Given the description of an element on the screen output the (x, y) to click on. 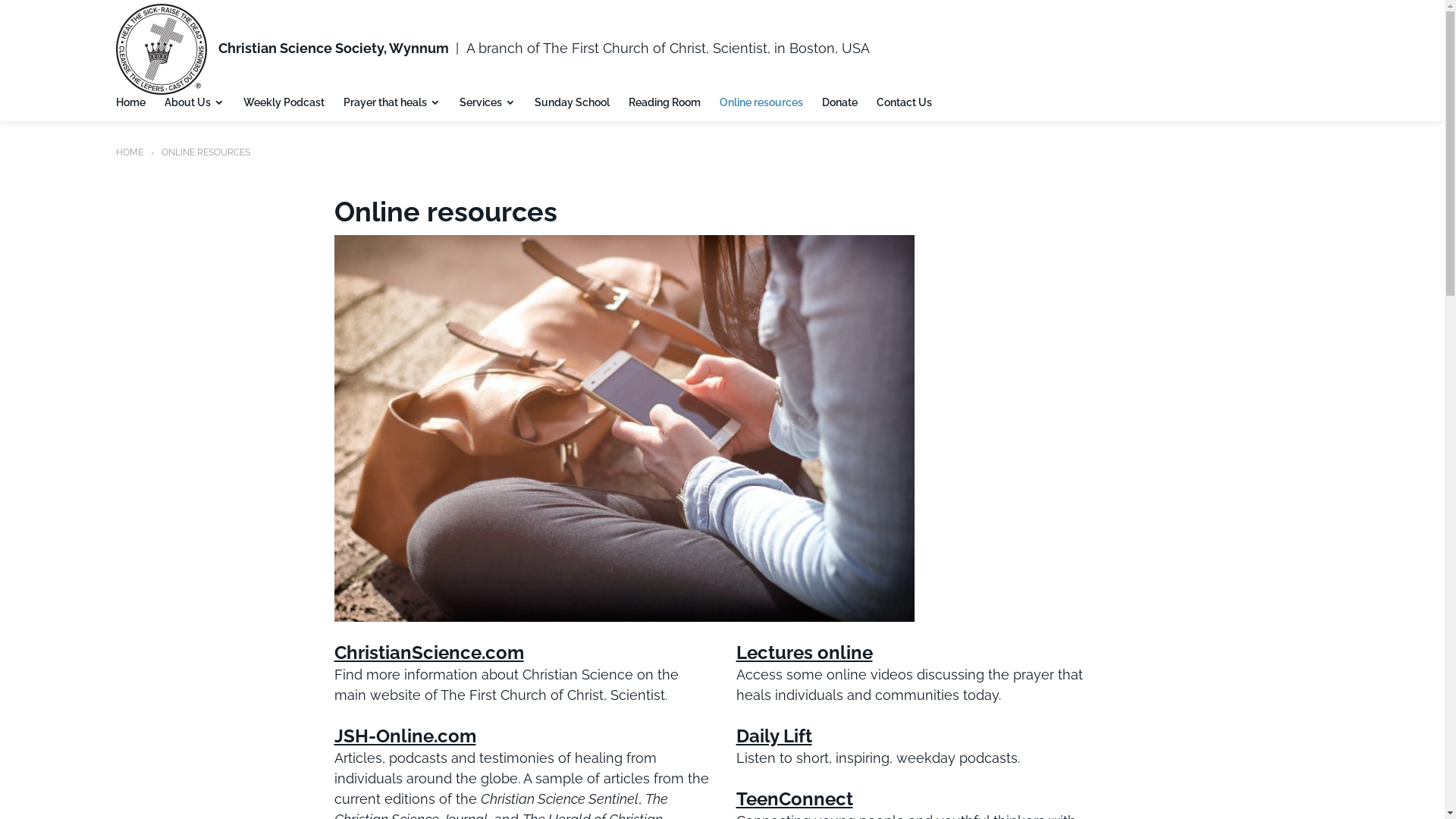
Contact Us Element type: text (903, 102)
ChristianScience.com Element type: text (428, 652)
Online resources Element type: hover (623, 427)
Lectures online Element type: text (803, 652)
Sunday School Element type: text (570, 102)
About Us Element type: text (193, 102)
Home Element type: text (129, 102)
Services Element type: text (487, 102)
Daily Lift Element type: text (773, 735)
Donate Element type: text (839, 102)
TeenConnect Element type: text (793, 798)
Weekly Podcast Element type: text (282, 102)
Online resources Element type: text (760, 102)
Reading Room Element type: text (663, 102)
HOME Element type: text (128, 152)
JSH-Online.com Element type: text (404, 735)
Prayer that heals Element type: text (390, 102)
Christian Science Society, Wynnum Element type: text (333, 48)
